Given the description of an element on the screen output the (x, y) to click on. 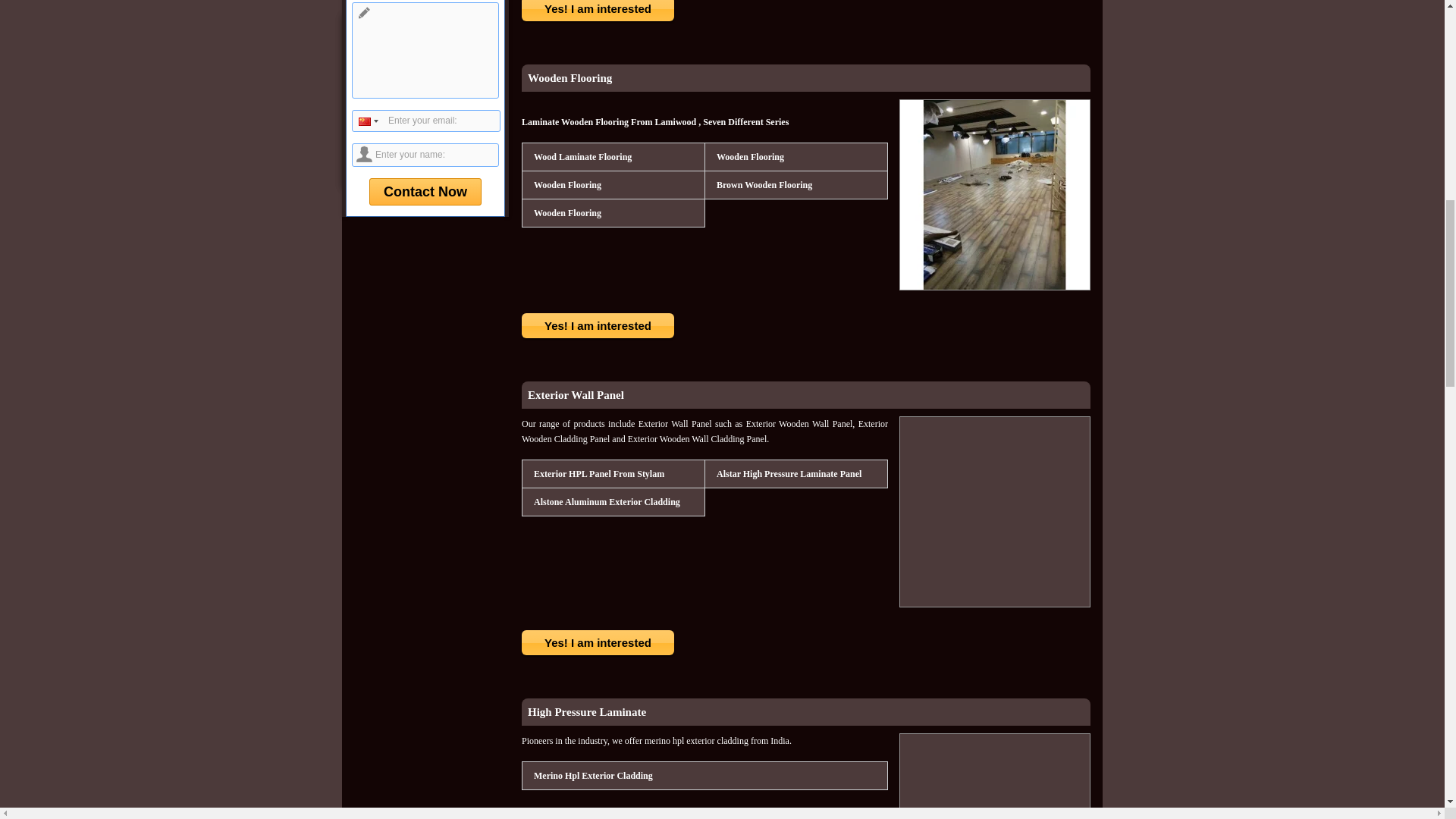
Exterior HPL Panel From Stylam (597, 473)
Contact Now (425, 191)
Wood Laminate Flooring (581, 156)
Wooden Flooring (566, 212)
Wooden Flooring (566, 184)
Brown Wooden Flooring (763, 184)
Alstone Aluminum Exterior Cladding (605, 501)
Alstar High Pressure Laminate Panel (788, 473)
Wooden Flooring (749, 156)
Exterior Wall Panel (575, 395)
